Given the description of an element on the screen output the (x, y) to click on. 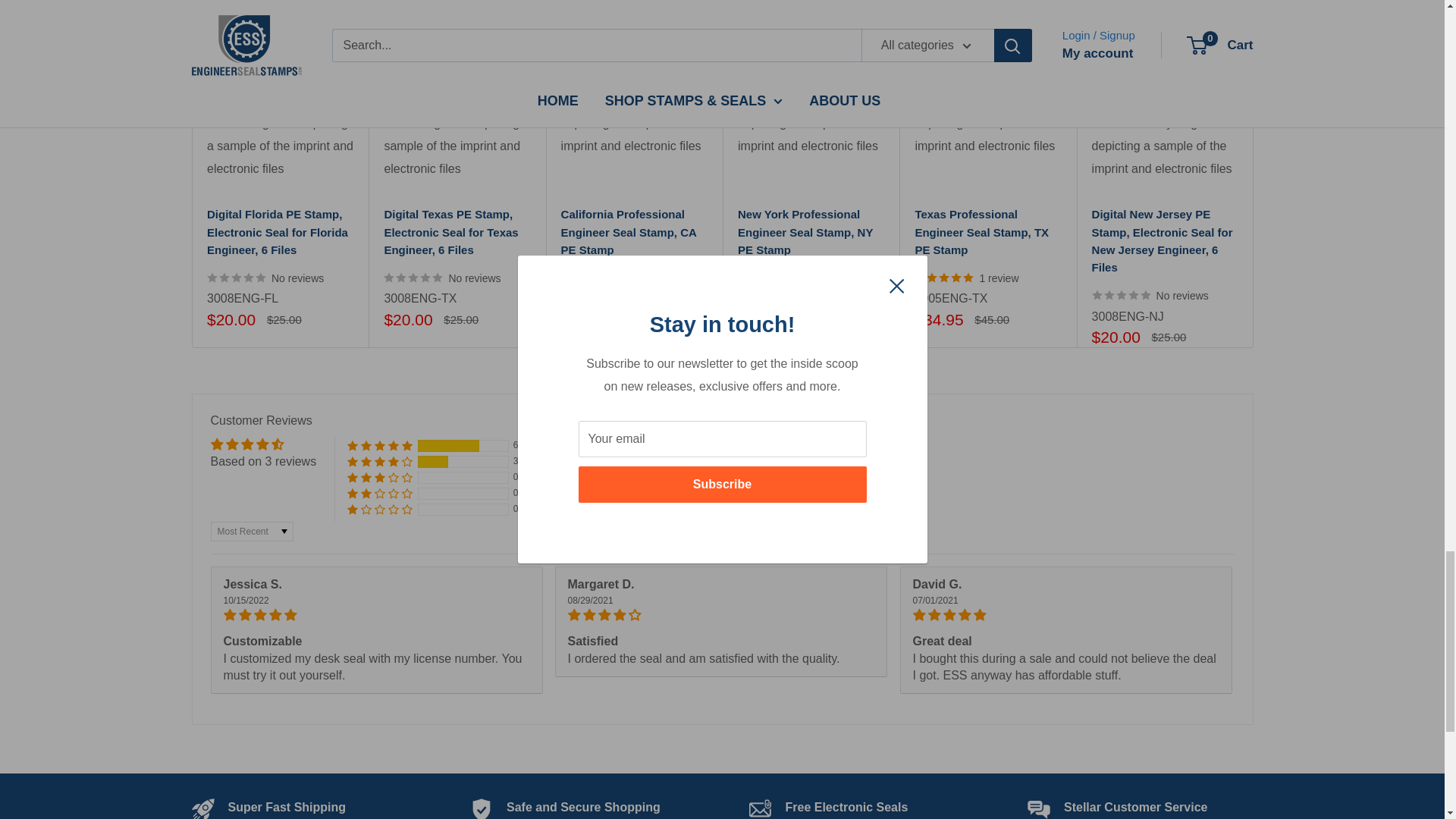
Contact Us (1135, 807)
Super-Fast Shipping (286, 807)
Safe and Secure Shopping (583, 807)
Free Electronic Seals (847, 807)
